Given the description of an element on the screen output the (x, y) to click on. 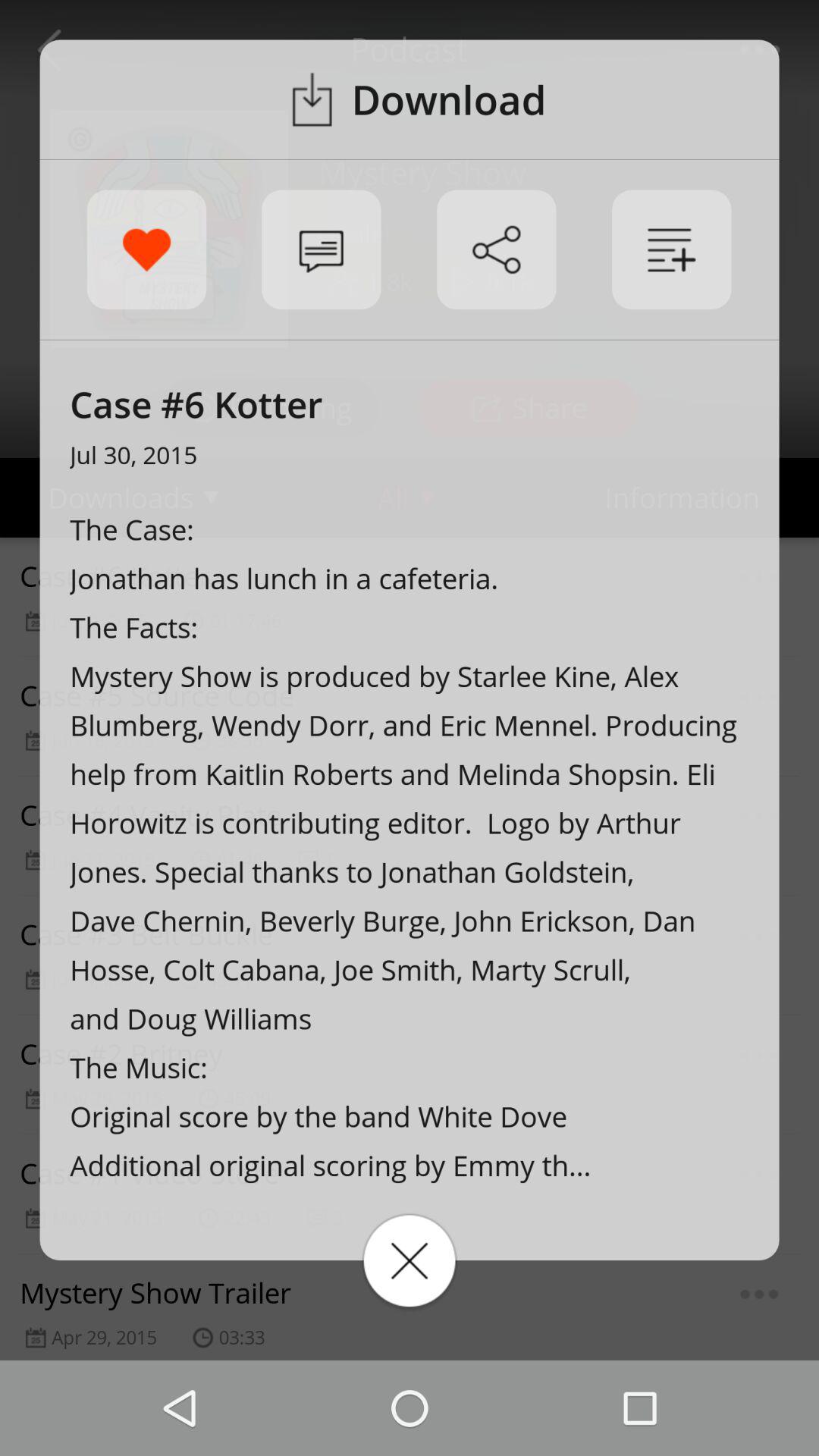
like the podcast (146, 249)
